Given the description of an element on the screen output the (x, y) to click on. 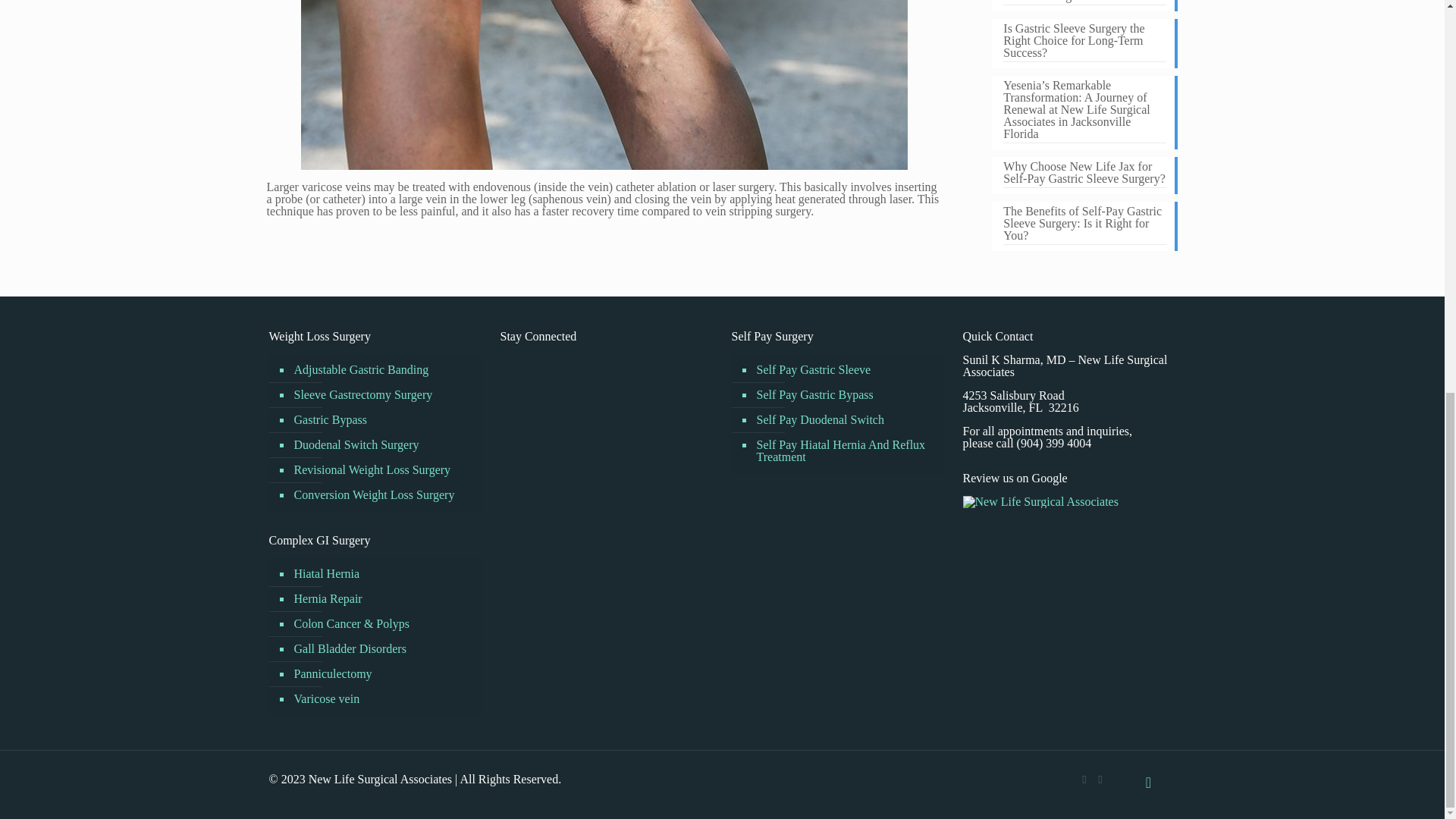
YouTube (1100, 779)
Facebook (1083, 779)
